Given the description of an element on the screen output the (x, y) to click on. 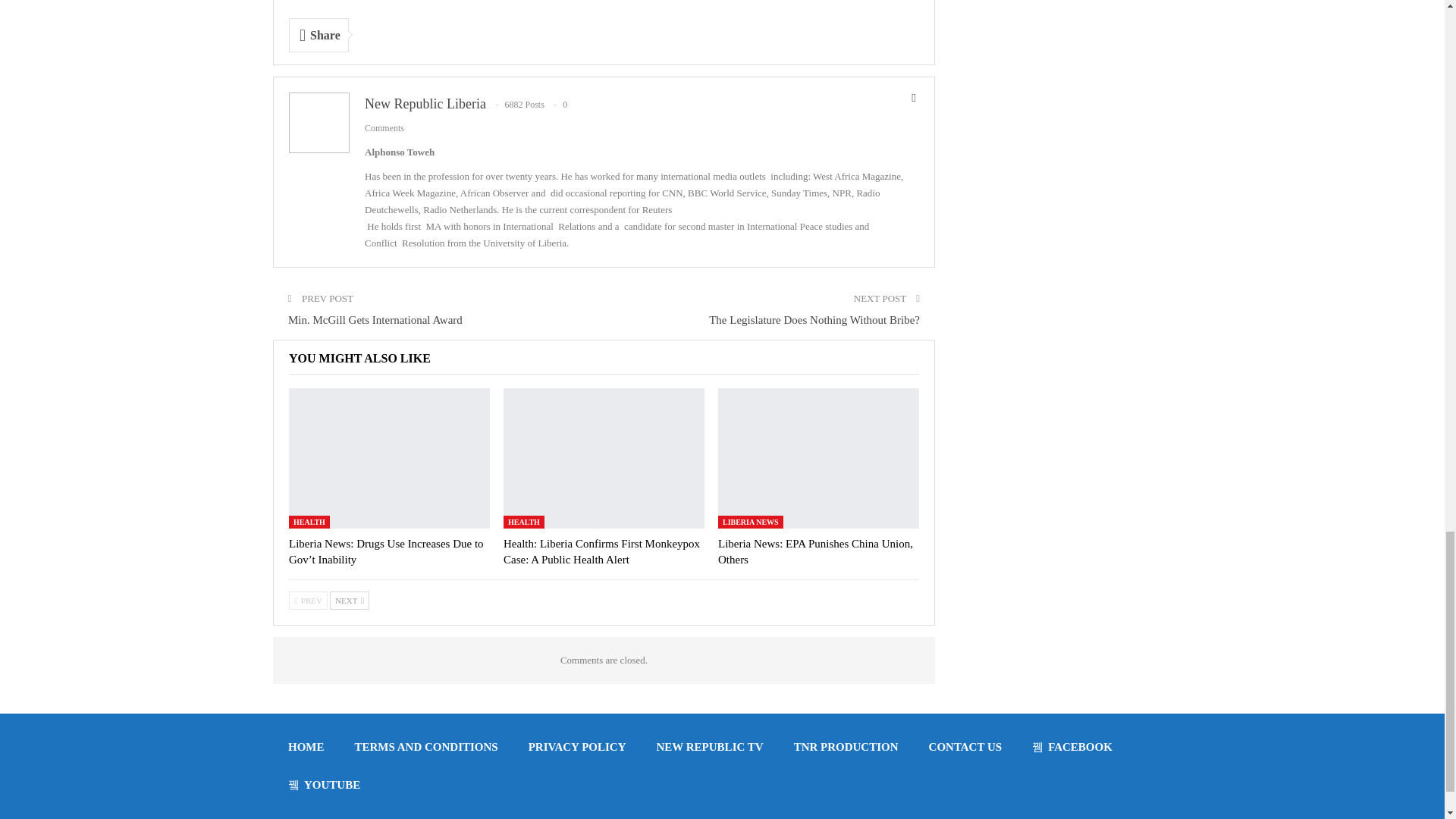
Liberia News: EPA Punishes China Union, Others (814, 551)
Next (349, 600)
Liberia News: EPA Punishes China Union, Others (817, 458)
Previous (307, 600)
